Given the description of an element on the screen output the (x, y) to click on. 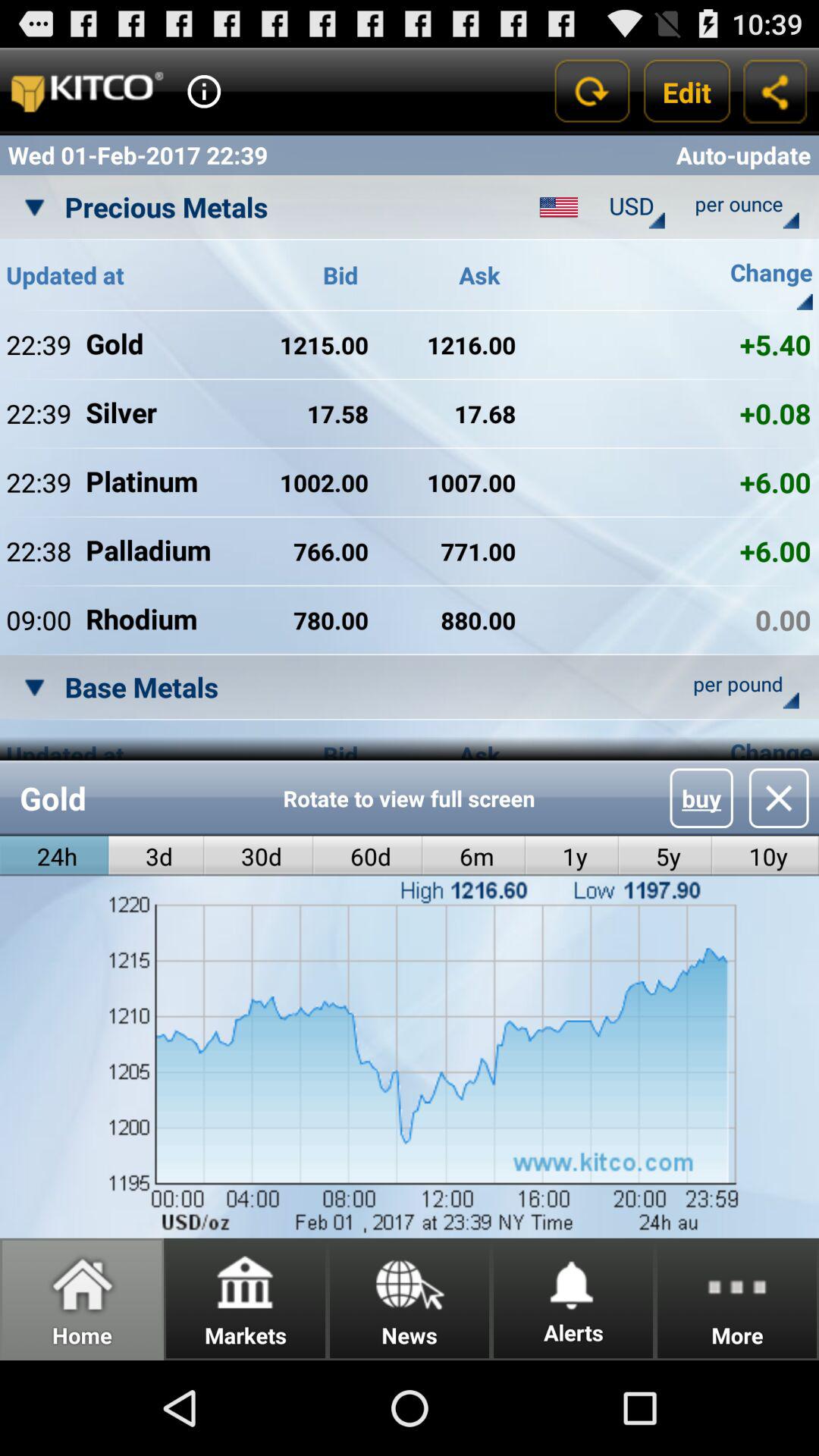
info button (204, 91)
